Given the description of an element on the screen output the (x, y) to click on. 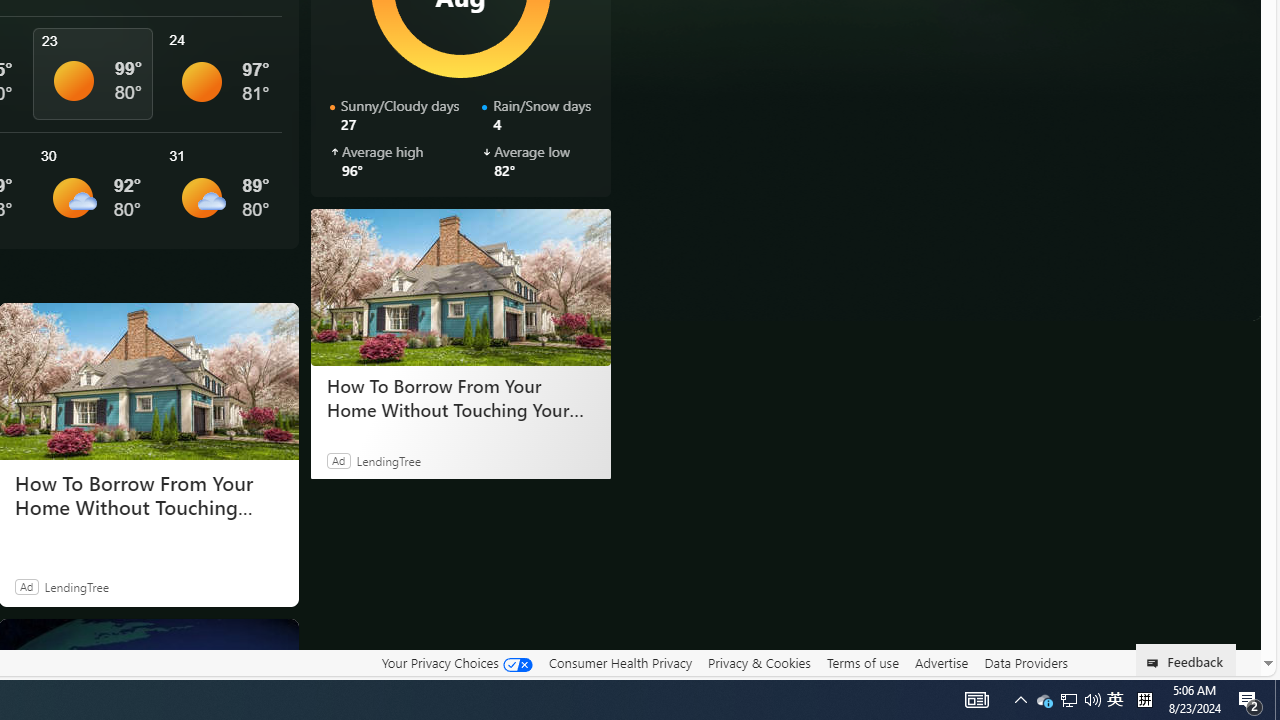
Your Privacy Choices (456, 662)
Data Providers (1025, 662)
Terms of use (861, 662)
How To Borrow From Your Home Without Touching Your Mortgage (459, 286)
Privacy & Cookies (759, 662)
Terms of use (861, 663)
Your Privacy Choices (456, 663)
Privacy & Cookies (759, 663)
Data Providers (1025, 663)
Consumer Health Privacy (619, 663)
Class: feedback_link_icon-DS-EntryPoint1-1 (1156, 663)
